Given the description of an element on the screen output the (x, y) to click on. 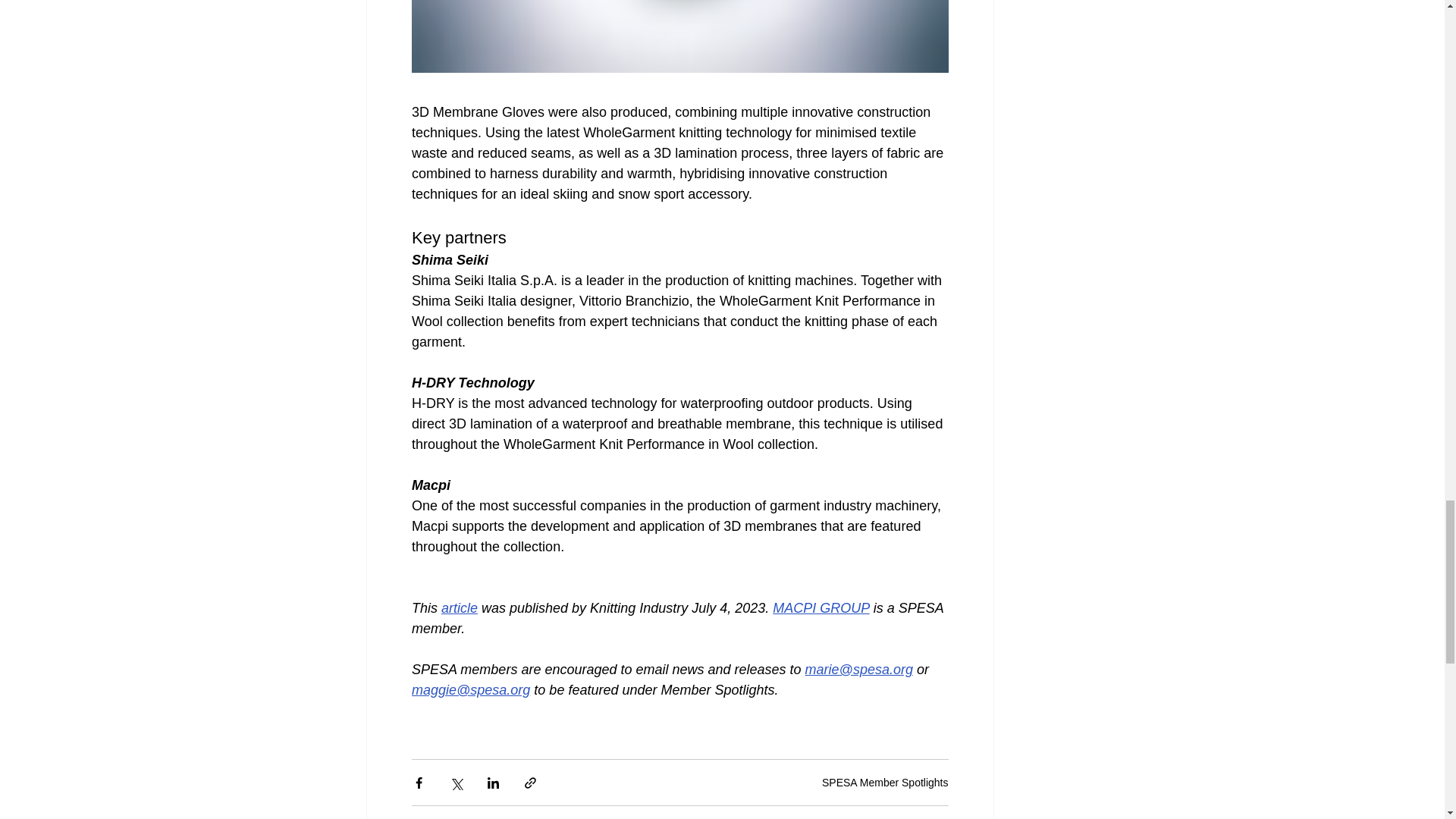
MACPI GROUP (821, 607)
article (459, 607)
SPESA Member Spotlights (885, 782)
